Given the description of an element on the screen output the (x, y) to click on. 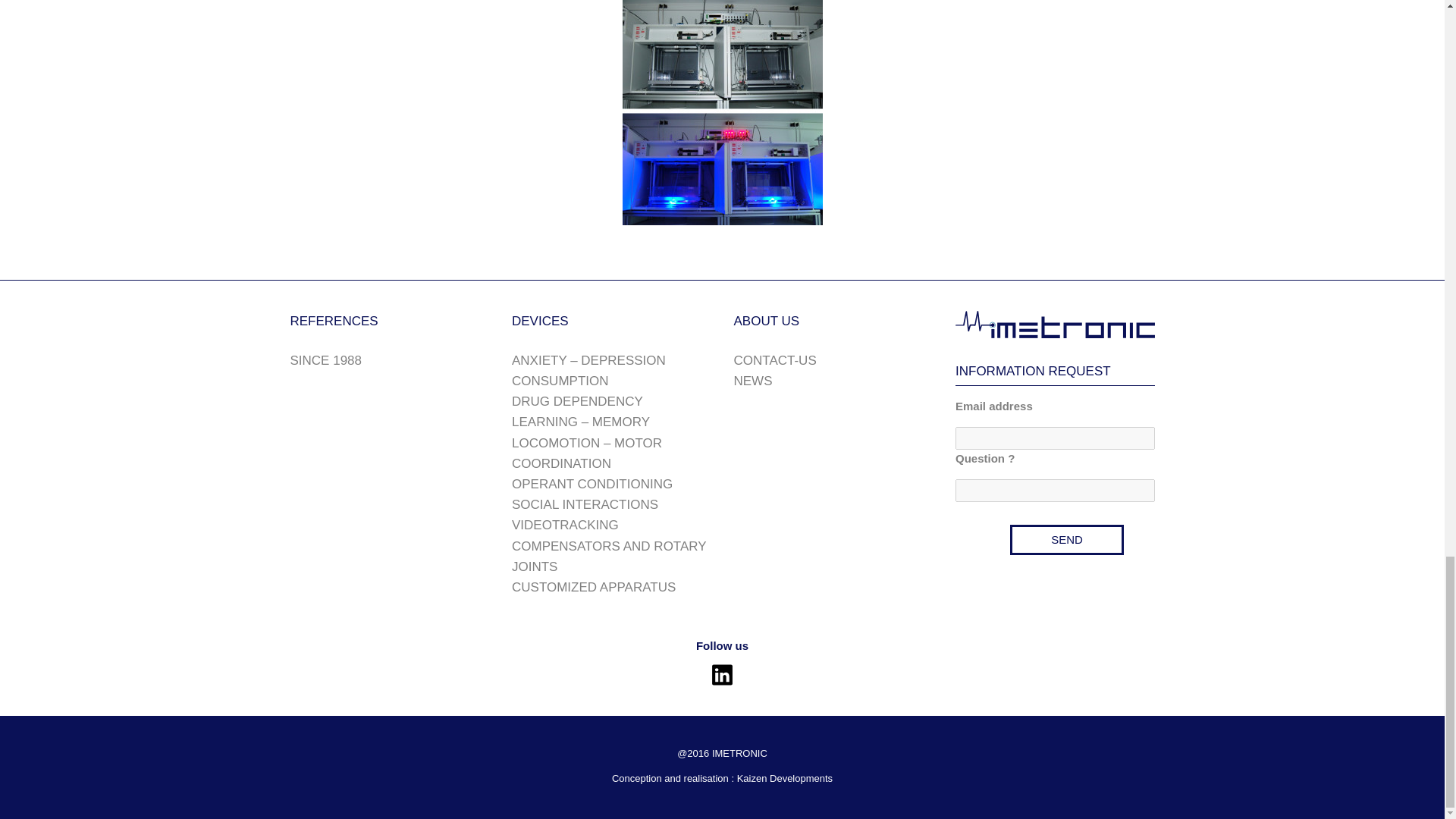
REFERENCES (333, 320)
DEVICES (540, 320)
Send (1067, 539)
SINCE 1988 (325, 359)
